Given the description of an element on the screen output the (x, y) to click on. 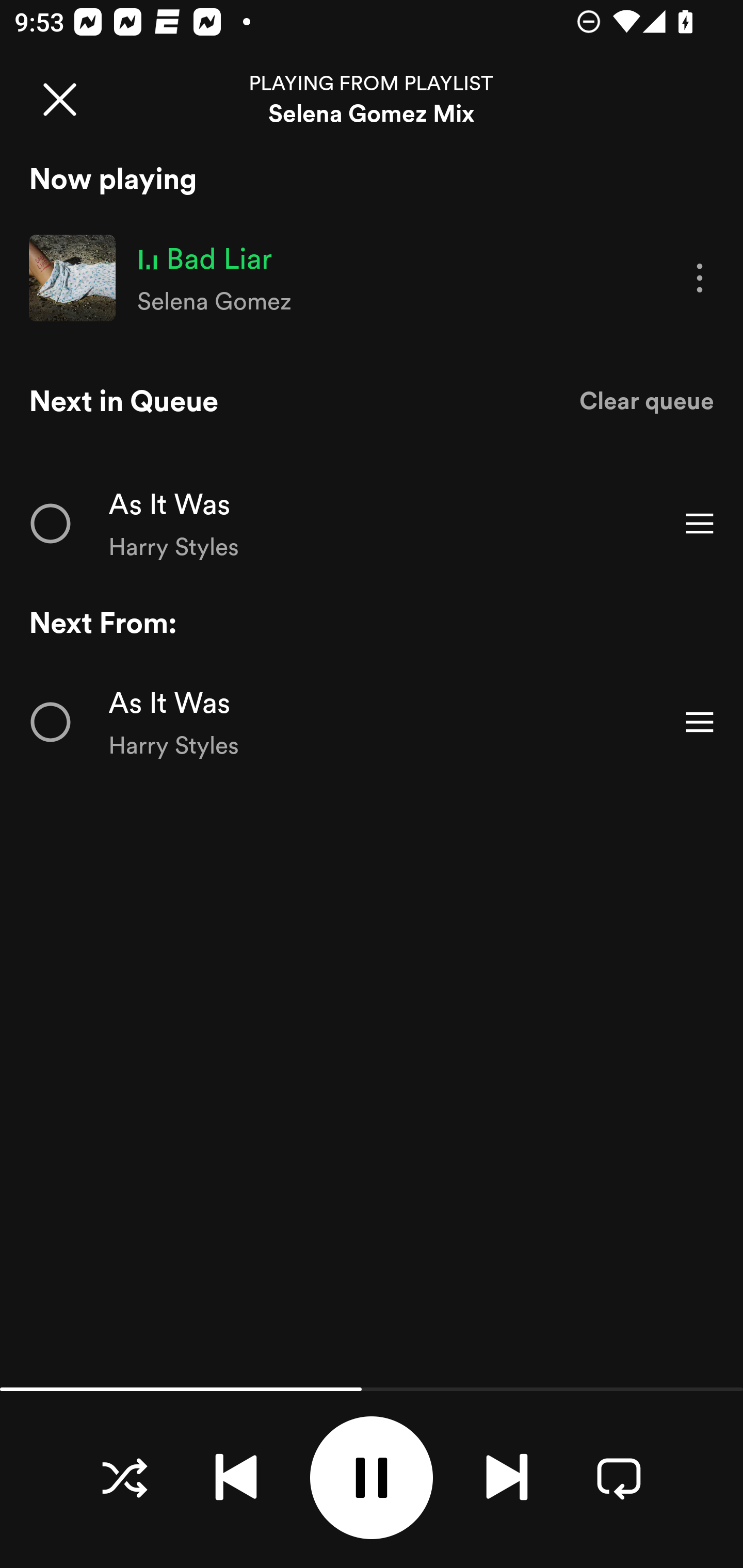
Close (59, 99)
PLAYING FROM PLAYLIST Selena Gomez Mix (371, 99)
More options for song Bad Liar (699, 278)
Clear queue (646, 400)
As It Was Harry Styles Reorder track (371, 523)
As It Was Harry Styles Reorder track (371, 721)
Pause (371, 1477)
Previous (235, 1477)
Next (507, 1477)
Choose a Listening Mode (123, 1477)
Repeat (618, 1477)
